Given the description of an element on the screen output the (x, y) to click on. 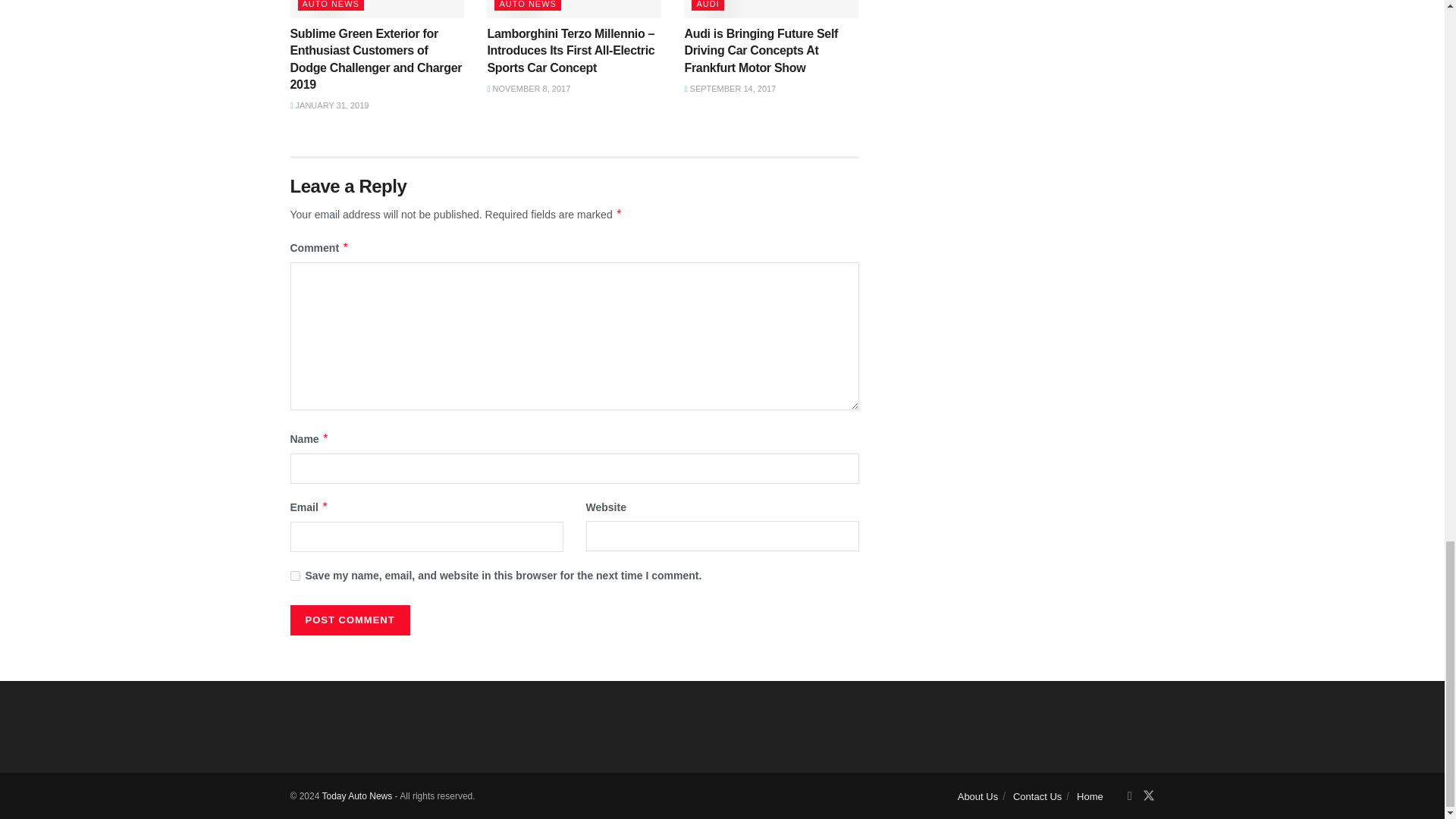
yes (294, 575)
Post Comment (349, 620)
Today Auto News (356, 796)
